Given the description of an element on the screen output the (x, y) to click on. 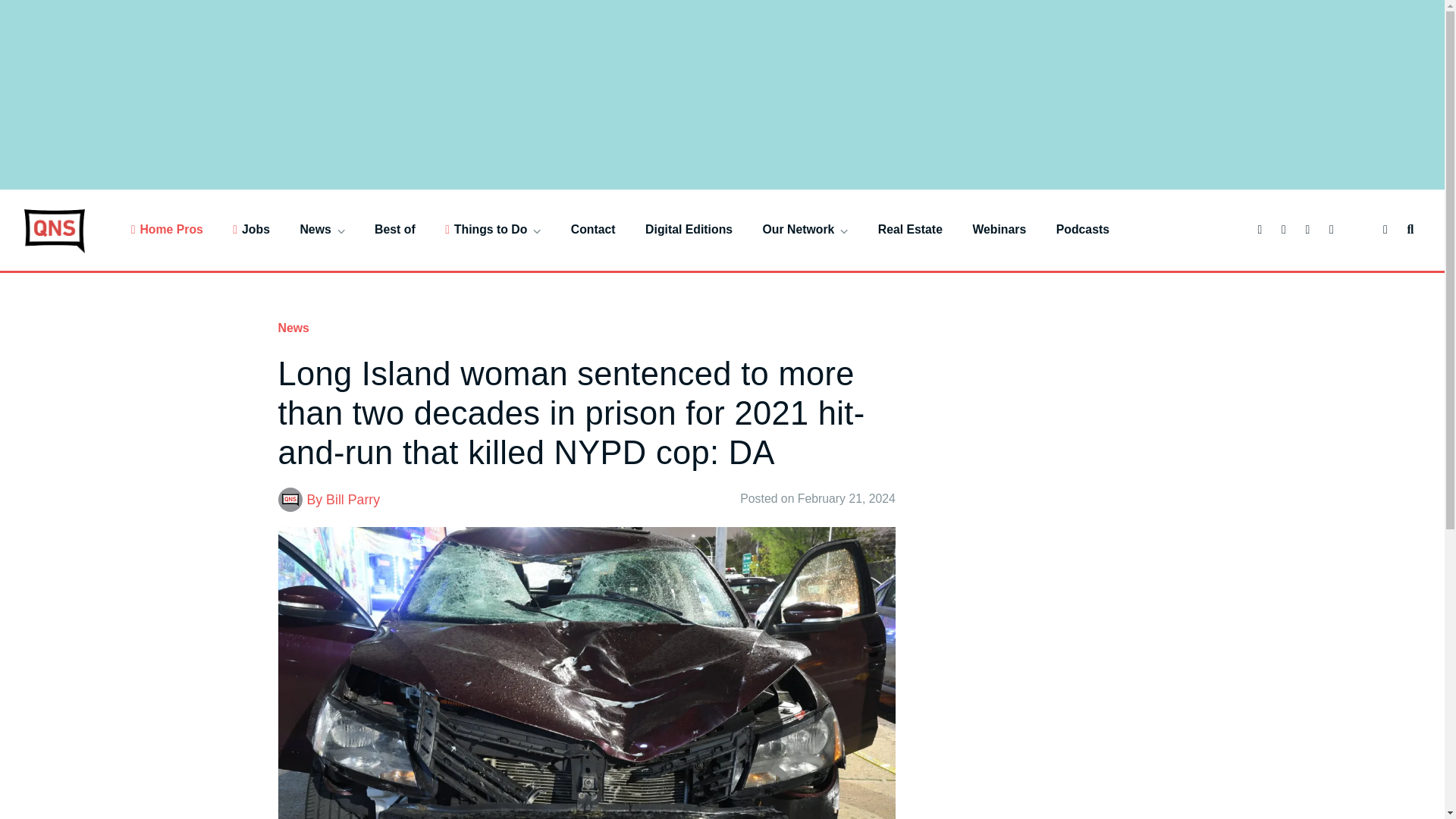
Contact (592, 228)
Digital Editions (688, 228)
Best of (394, 228)
Our Network (805, 228)
News (321, 228)
Posts by Bill Parry (353, 499)
Home Pros (167, 228)
Things to Do (492, 228)
Podcasts (1083, 228)
Real Estate (909, 228)
Jobs (250, 228)
Webinars (999, 228)
